Given the description of an element on the screen output the (x, y) to click on. 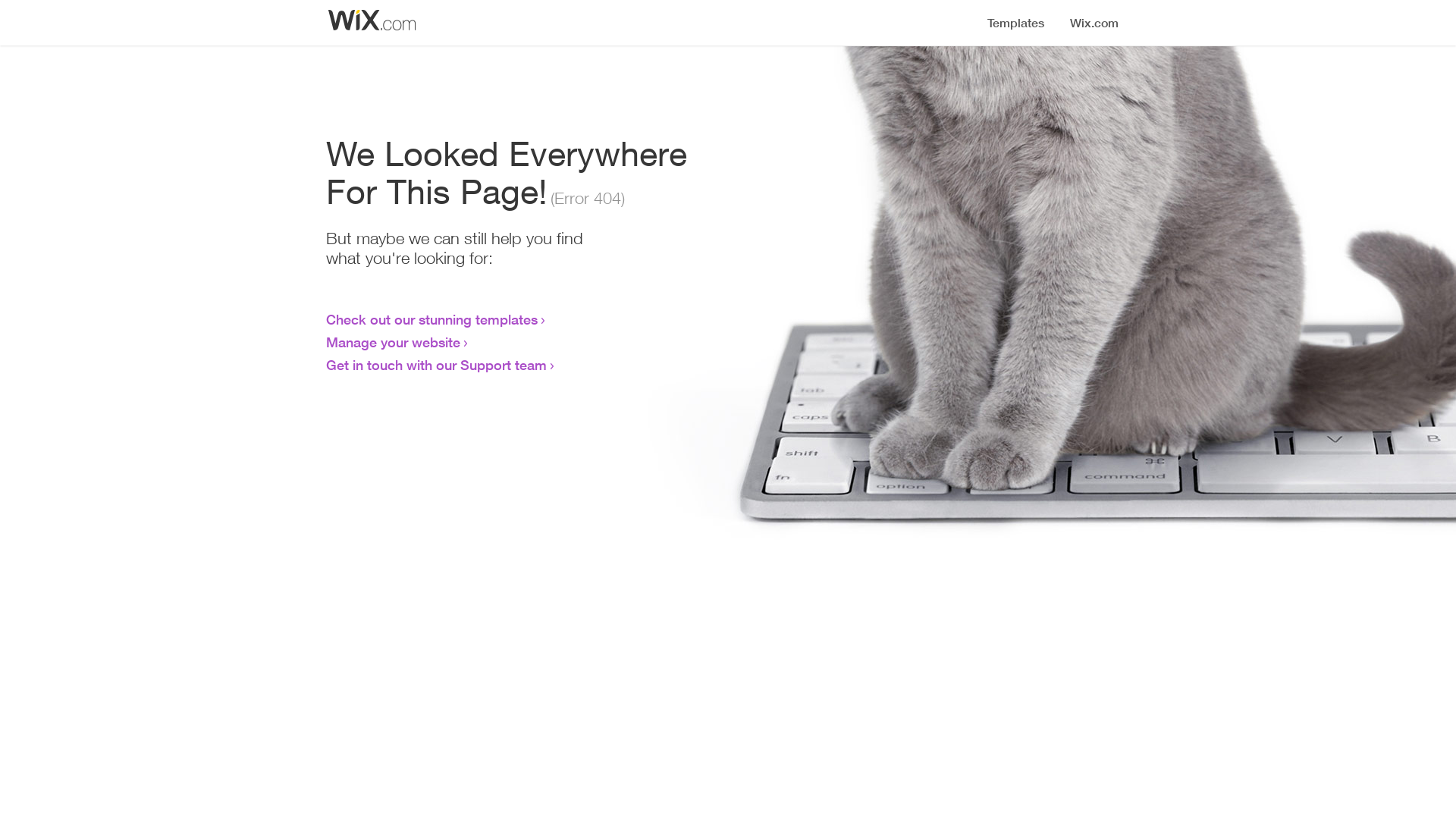
Get in touch with our Support team Element type: text (436, 364)
Manage your website Element type: text (393, 341)
Check out our stunning templates Element type: text (431, 318)
